Given the description of an element on the screen output the (x, y) to click on. 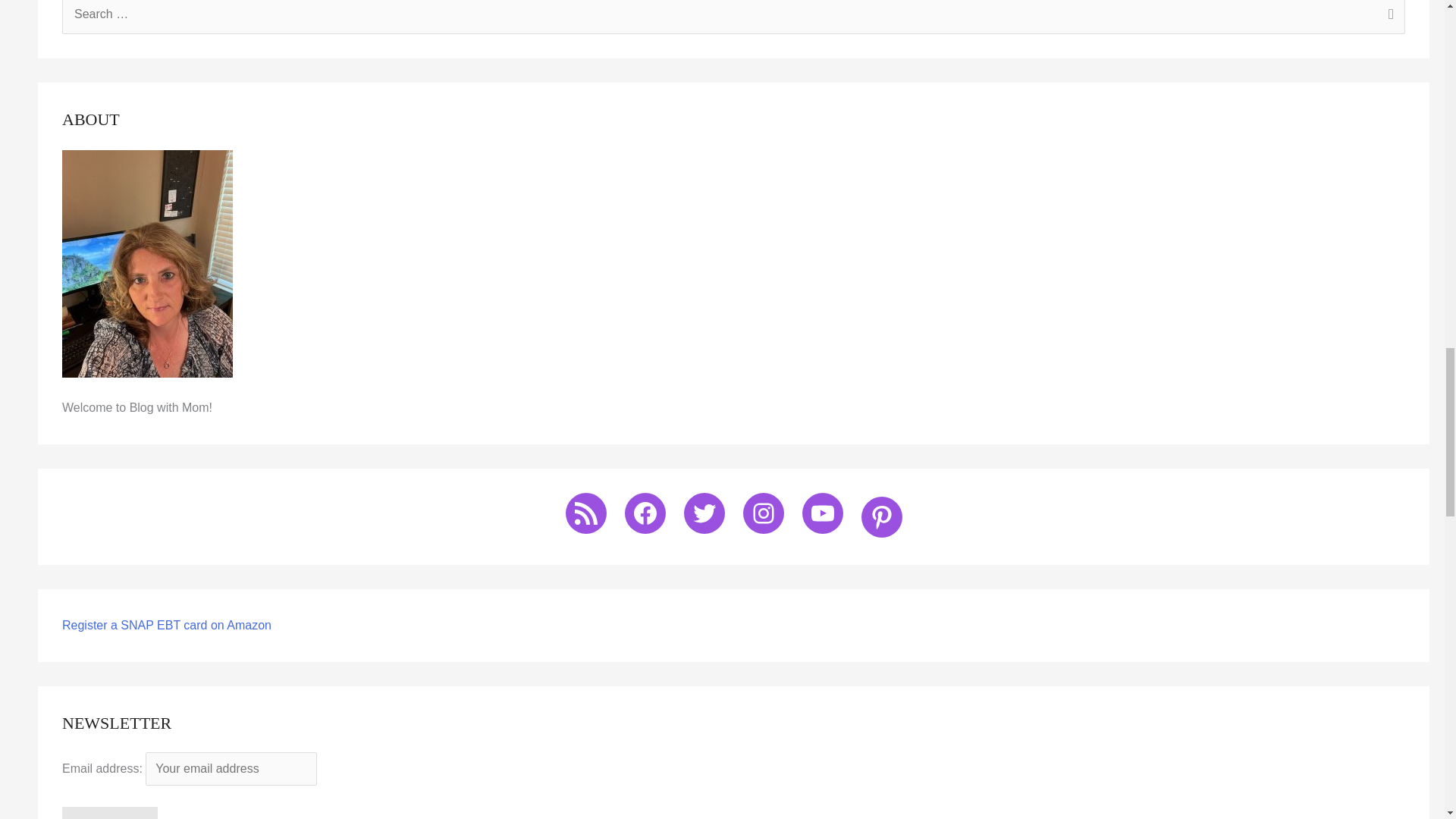
Search (1388, 18)
Search (1388, 18)
Sign up (109, 812)
